Given the description of an element on the screen output the (x, y) to click on. 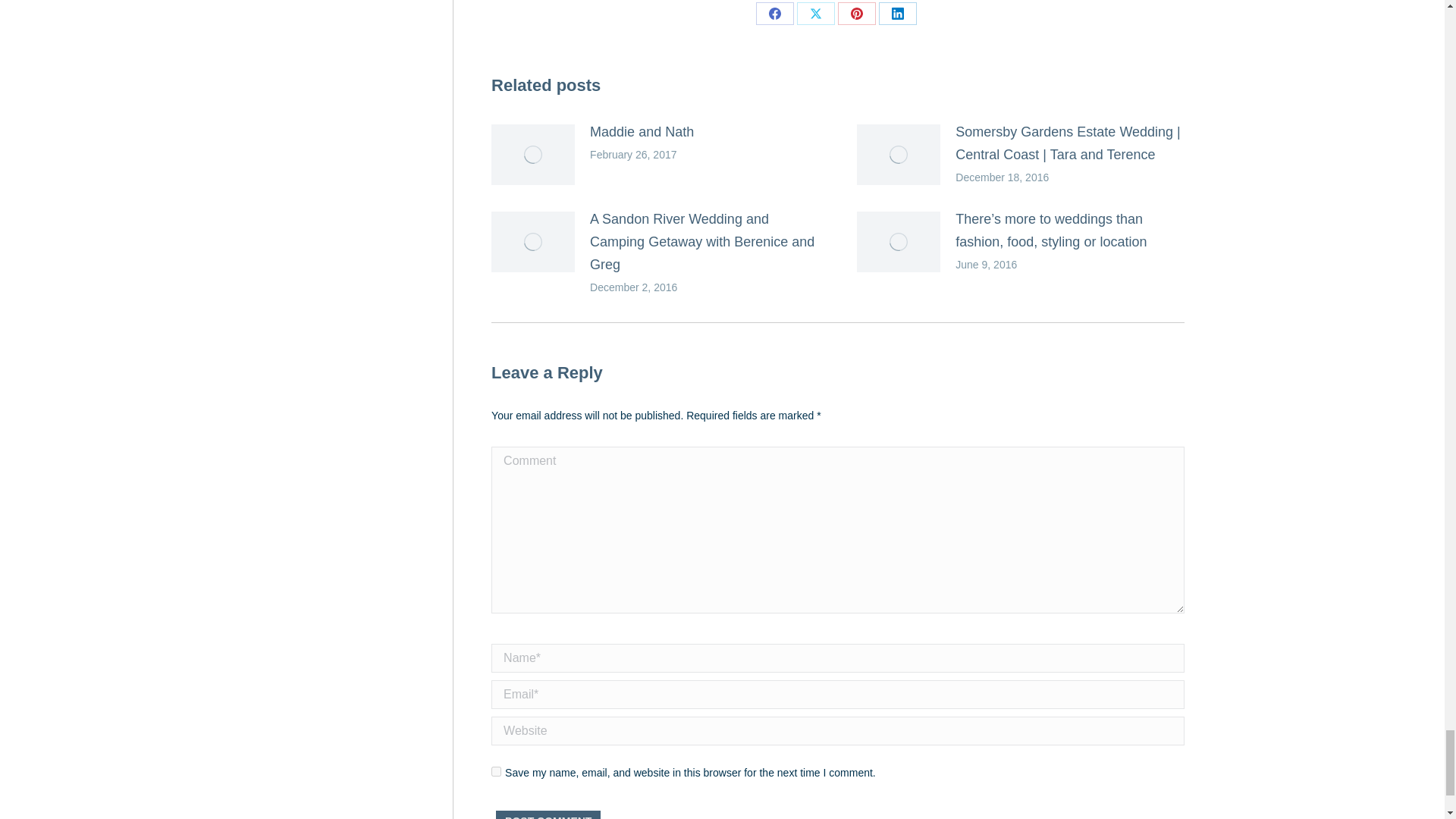
Share on LinkedIn (898, 13)
Share on Pinterest (857, 13)
Share on Facebook (774, 13)
Maddie and Nath (641, 131)
Share on X (815, 13)
yes (496, 771)
